Given the description of an element on the screen output the (x, y) to click on. 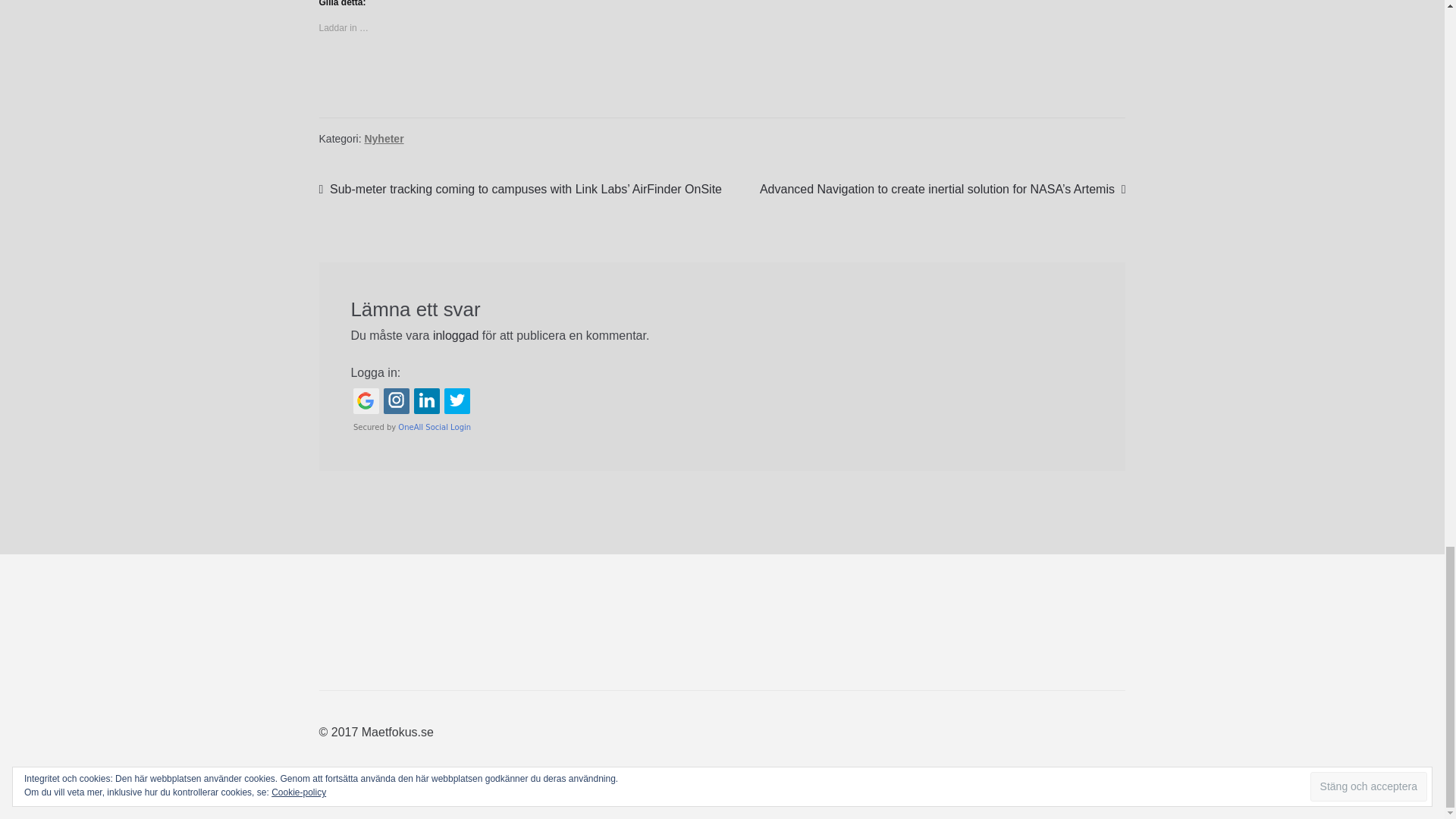
inloggad (455, 335)
Gilla eller reblogga (721, 79)
Login with Social Networks (721, 409)
Nyheter (383, 138)
